Given the description of an element on the screen output the (x, y) to click on. 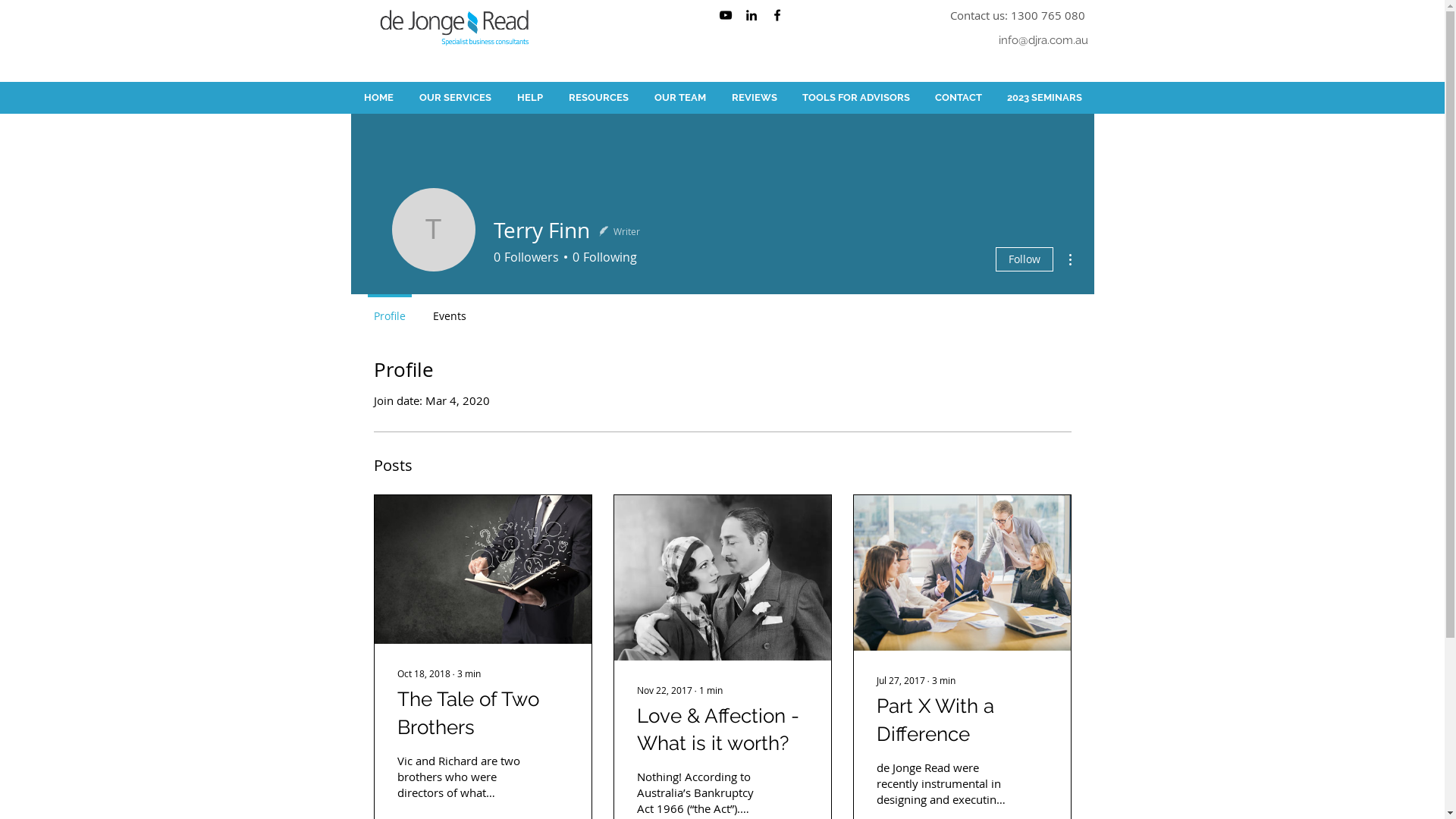
Follow Element type: text (1023, 259)
Events Element type: text (448, 309)
TOOLS FOR ADVISORS Element type: text (856, 97)
OUR SERVICES Element type: text (455, 97)
Profile Element type: text (388, 309)
RESOURCES Element type: text (597, 97)
2023 SEMINARS Element type: text (1044, 97)
info@djra.com.au Element type: text (1042, 39)
HOME Element type: text (377, 97)
0
Following Element type: text (602, 256)
HELP Element type: text (529, 97)
REVIEWS Element type: text (754, 97)
0
Followers Element type: text (525, 256)
CONTACT Element type: text (958, 97)
OUR TEAM Element type: text (679, 97)
